Given the description of an element on the screen output the (x, y) to click on. 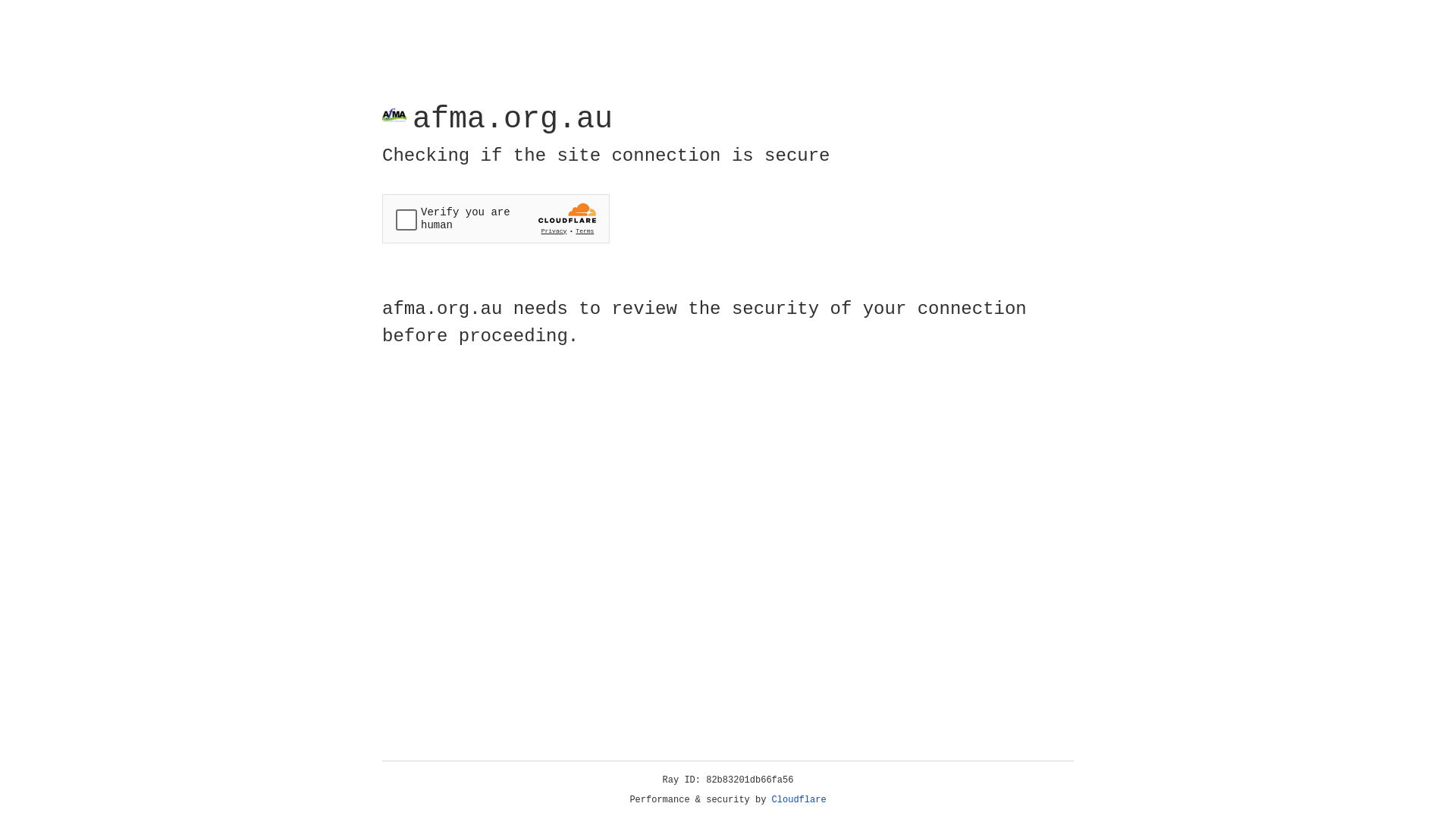
Widget containing a Cloudflare security challenge Element type: hover (495, 218)
Cloudflare Element type: text (798, 799)
